Given the description of an element on the screen output the (x, y) to click on. 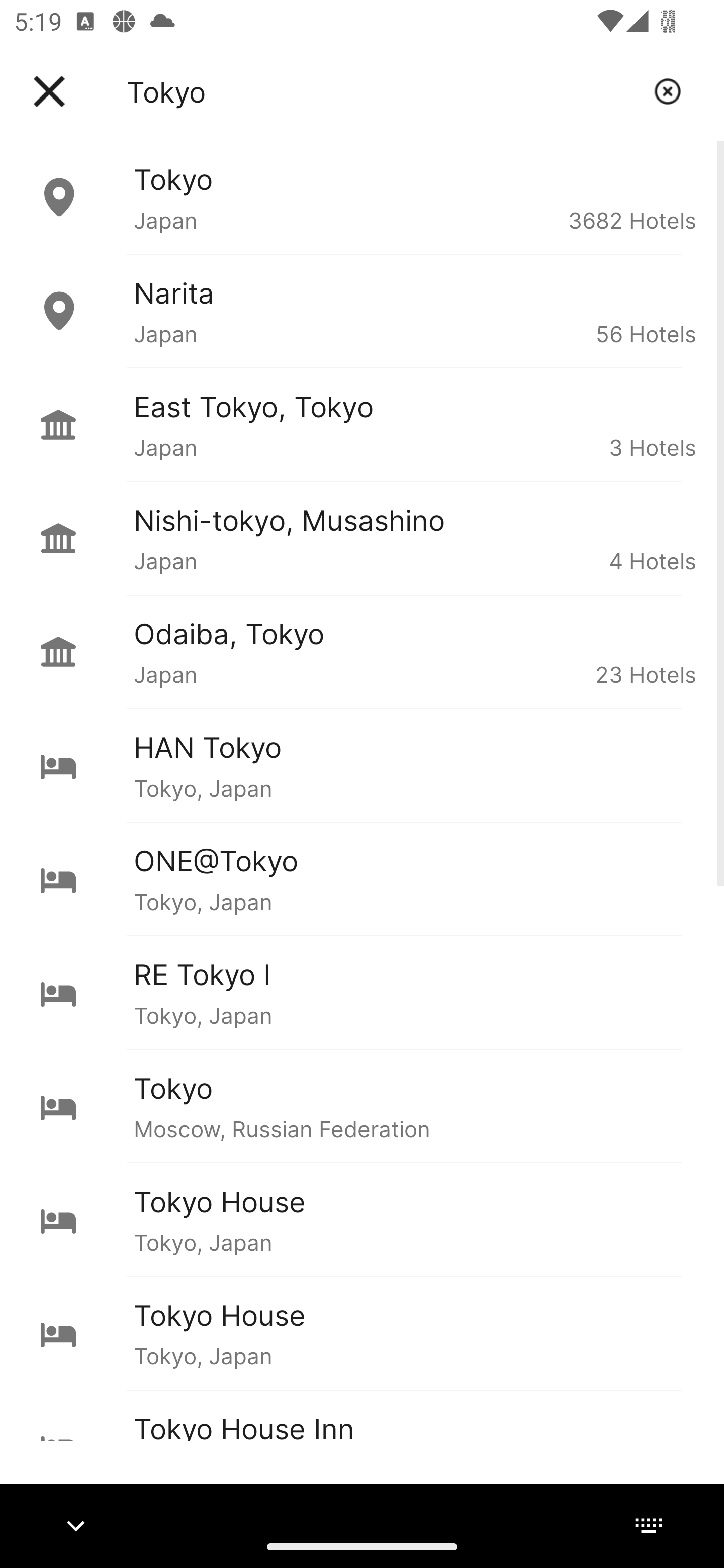
Tokyo (382, 91)
Tokyo Japan 3682 Hotels (362, 197)
Narita Japan 56 Hotels (362, 310)
East Tokyo, Tokyo Japan 3 Hotels (362, 424)
Nishi-tokyo, Musashino Japan 4 Hotels (362, 537)
Odaiba, Tokyo Japan 23 Hotels (362, 651)
HAN Tokyo Tokyo, Japan (362, 764)
ONE@Tokyo Tokyo, Japan (362, 878)
RE Tokyo I Tokyo, Japan (362, 992)
Tokyo Moscow, Russian Federation (362, 1105)
Tokyo House Tokyo, Japan (362, 1219)
Tokyo House Tokyo, Japan (362, 1332)
